Given the description of an element on the screen output the (x, y) to click on. 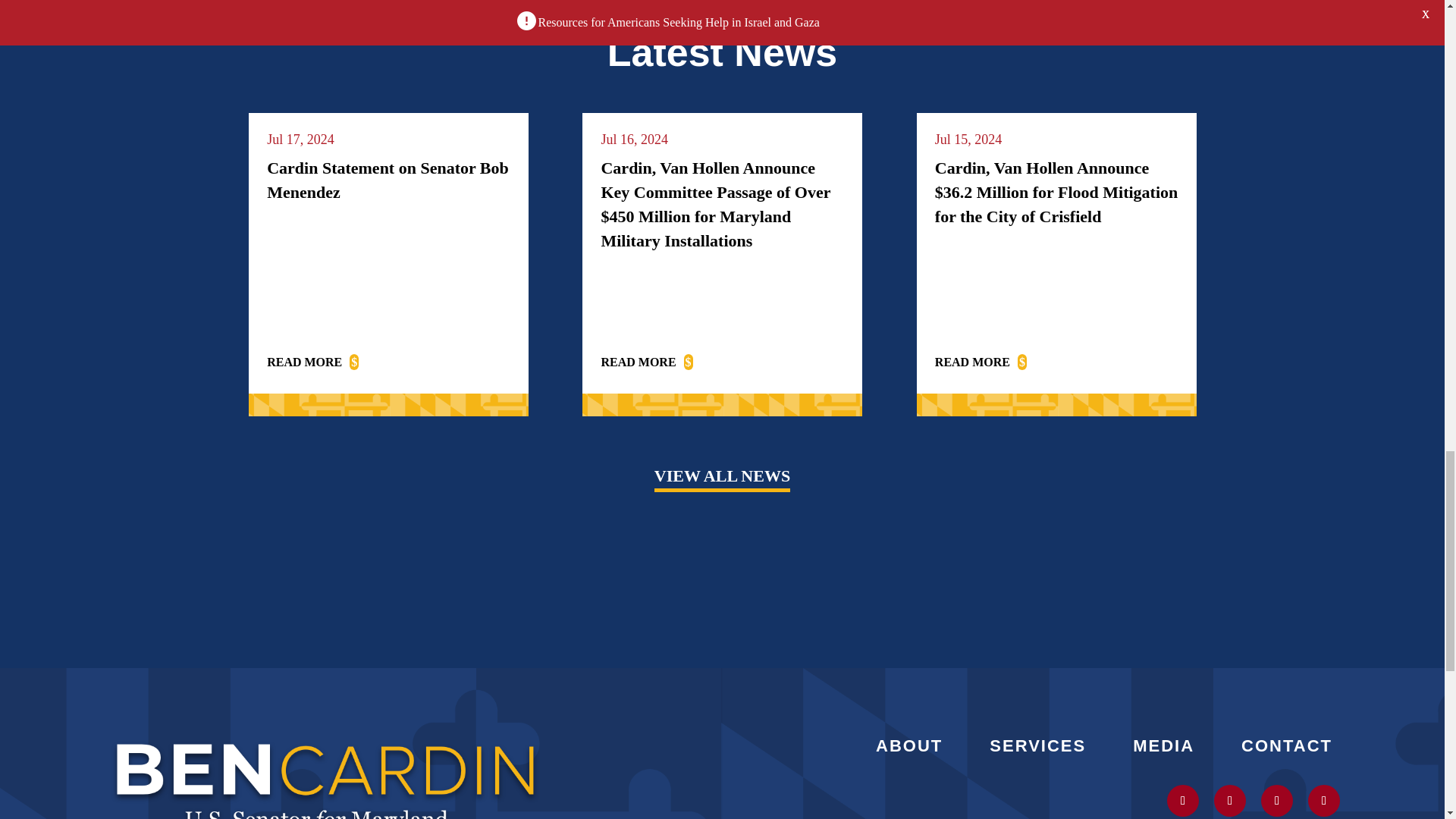
Follow on Instagram (1230, 800)
Follow on Youtube (1276, 800)
Crab (722, 5)
Footer (326, 774)
Follow on Facebook (1323, 800)
Follow on X (1182, 800)
